Given the description of an element on the screen output the (x, y) to click on. 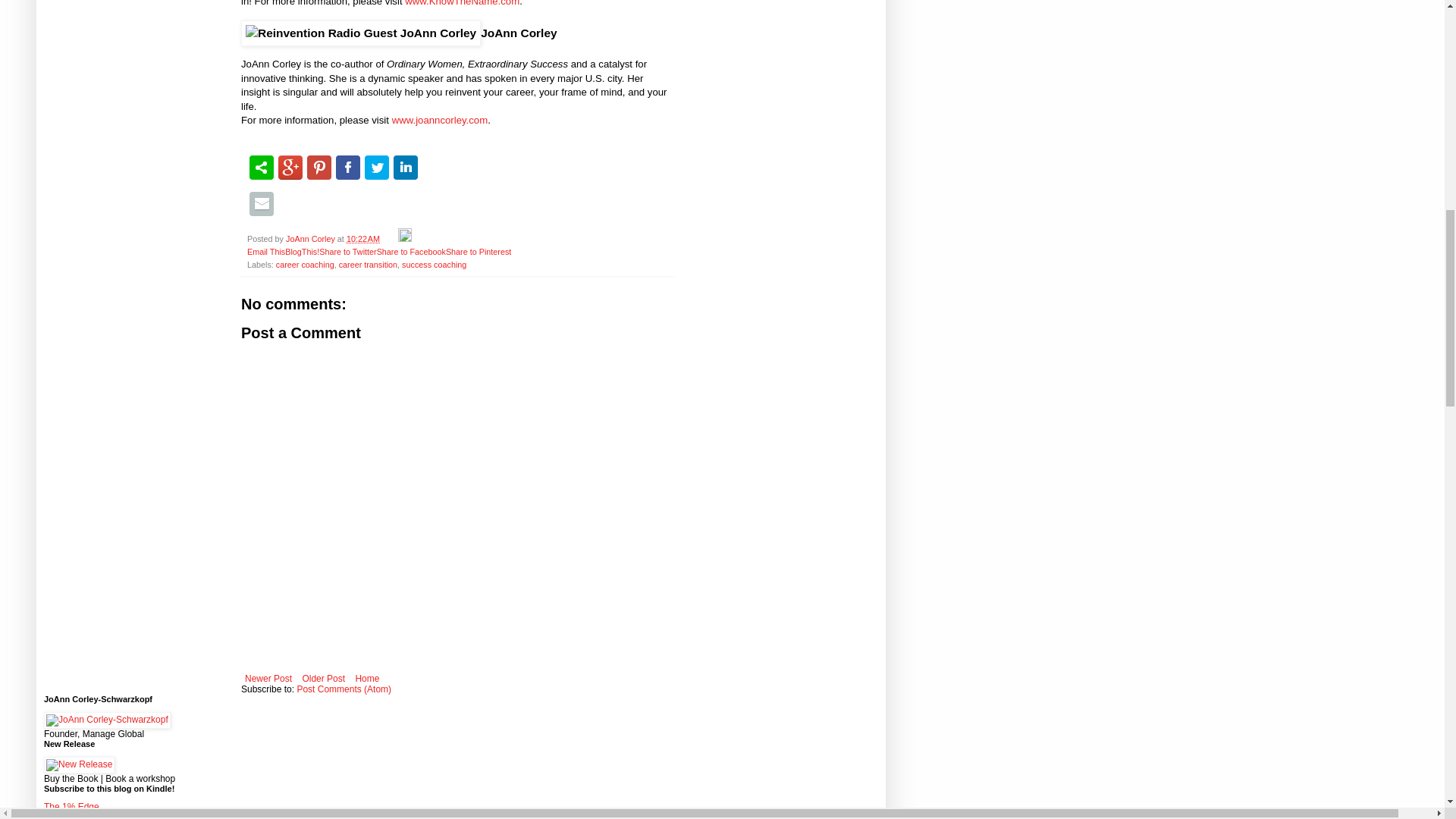
Share to Twitter (346, 251)
www.KnowTheName.com (461, 3)
Email Post (389, 238)
BlogThis! (301, 251)
Home (366, 678)
Newer Post (268, 678)
career transition (368, 264)
success coaching (433, 264)
BlogThis! (301, 251)
Email This (266, 251)
Share to Pinterest (478, 251)
Edit Post (404, 238)
www.joanncorley.com (439, 120)
JoAnn Corley (311, 238)
